Given the description of an element on the screen output the (x, y) to click on. 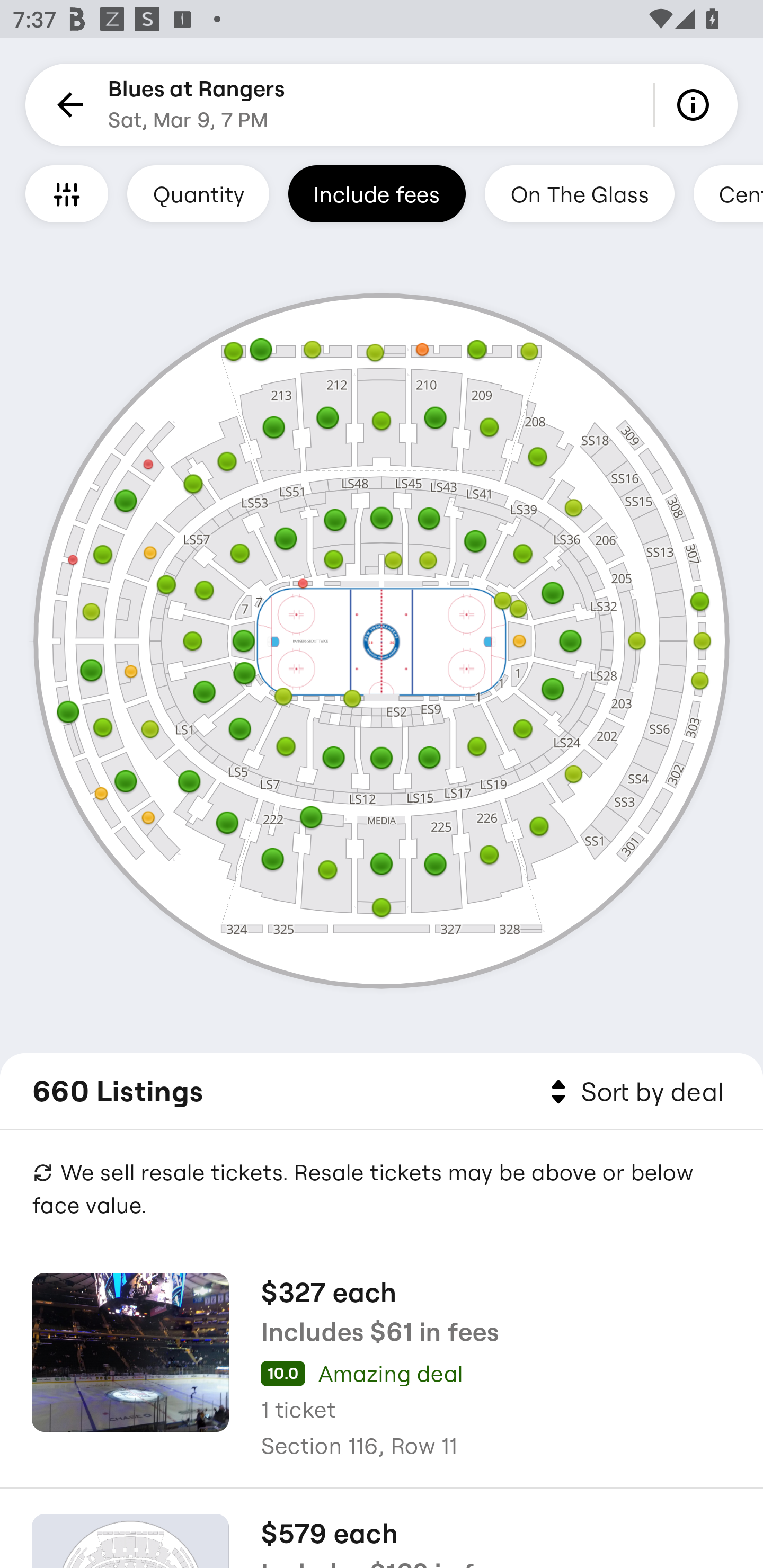
Back Blues at Rangers Sat, Mar 9, 7 PM Info (381, 104)
Back (66, 104)
Blues at Rangers Sat, Mar 9, 7 PM (196, 104)
Info (695, 104)
Filters and Accessible Seating (66, 193)
Quantity (198, 193)
Include fees (376, 193)
On The Glass (579, 193)
Sort by deal (633, 1091)
